Given the description of an element on the screen output the (x, y) to click on. 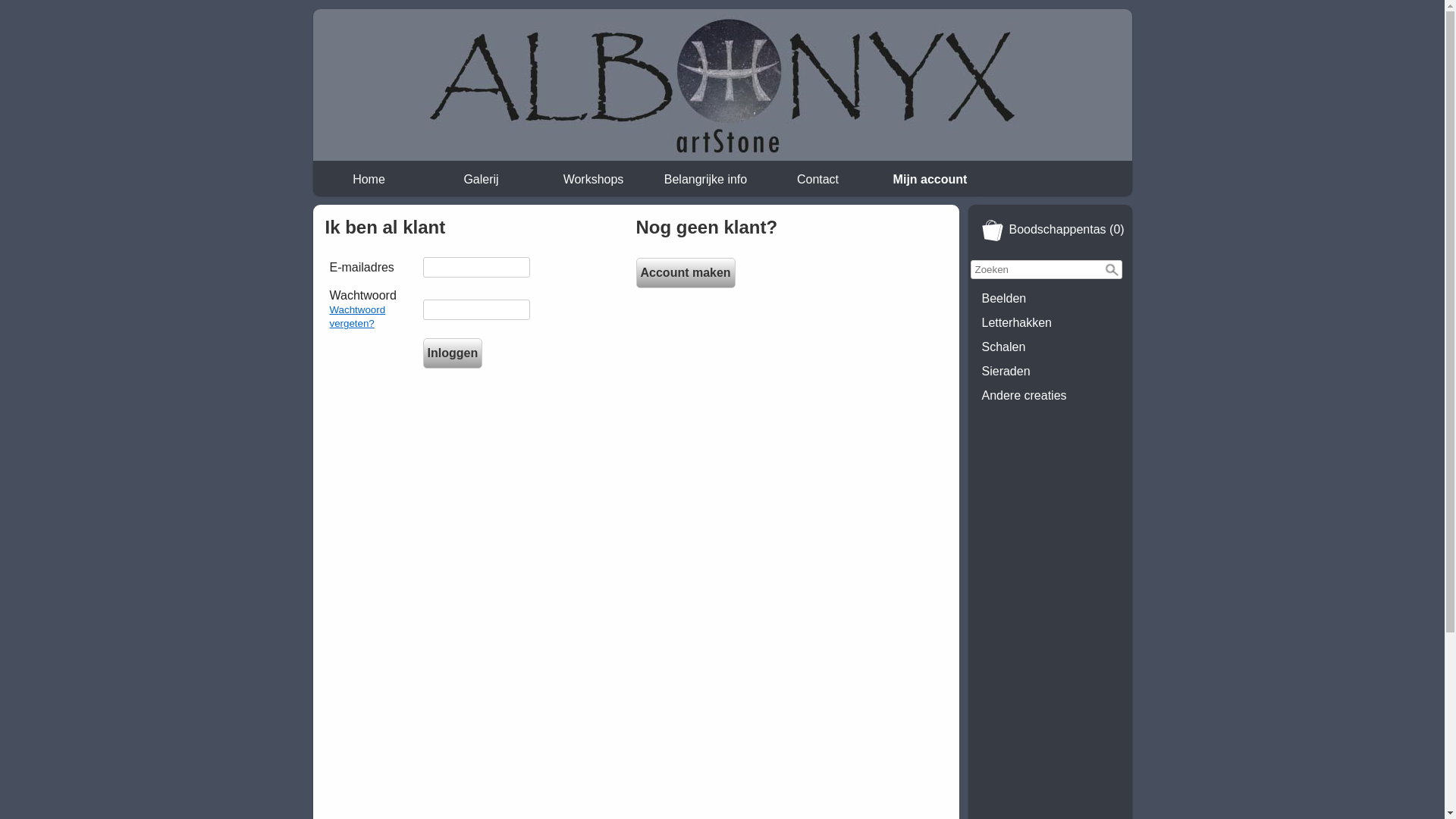
Galerij Element type: text (481, 179)
Andere creaties Element type: text (1049, 395)
Account maken Element type: text (684, 272)
Belangrijke info Element type: text (705, 179)
Home Element type: text (368, 179)
Schalen Element type: text (1049, 347)
Sieraden Element type: text (1049, 371)
Inloggen Element type: text (453, 353)
Workshops Element type: text (593, 179)
Wachtwoord vergeten? Element type: text (357, 316)
Beelden Element type: text (1049, 298)
BoodschappentasBoodschappentas (0) Element type: text (1049, 230)
Letterhakken Element type: text (1049, 322)
Mijn account Element type: text (930, 179)
Contact Element type: text (817, 179)
